Given the description of an element on the screen output the (x, y) to click on. 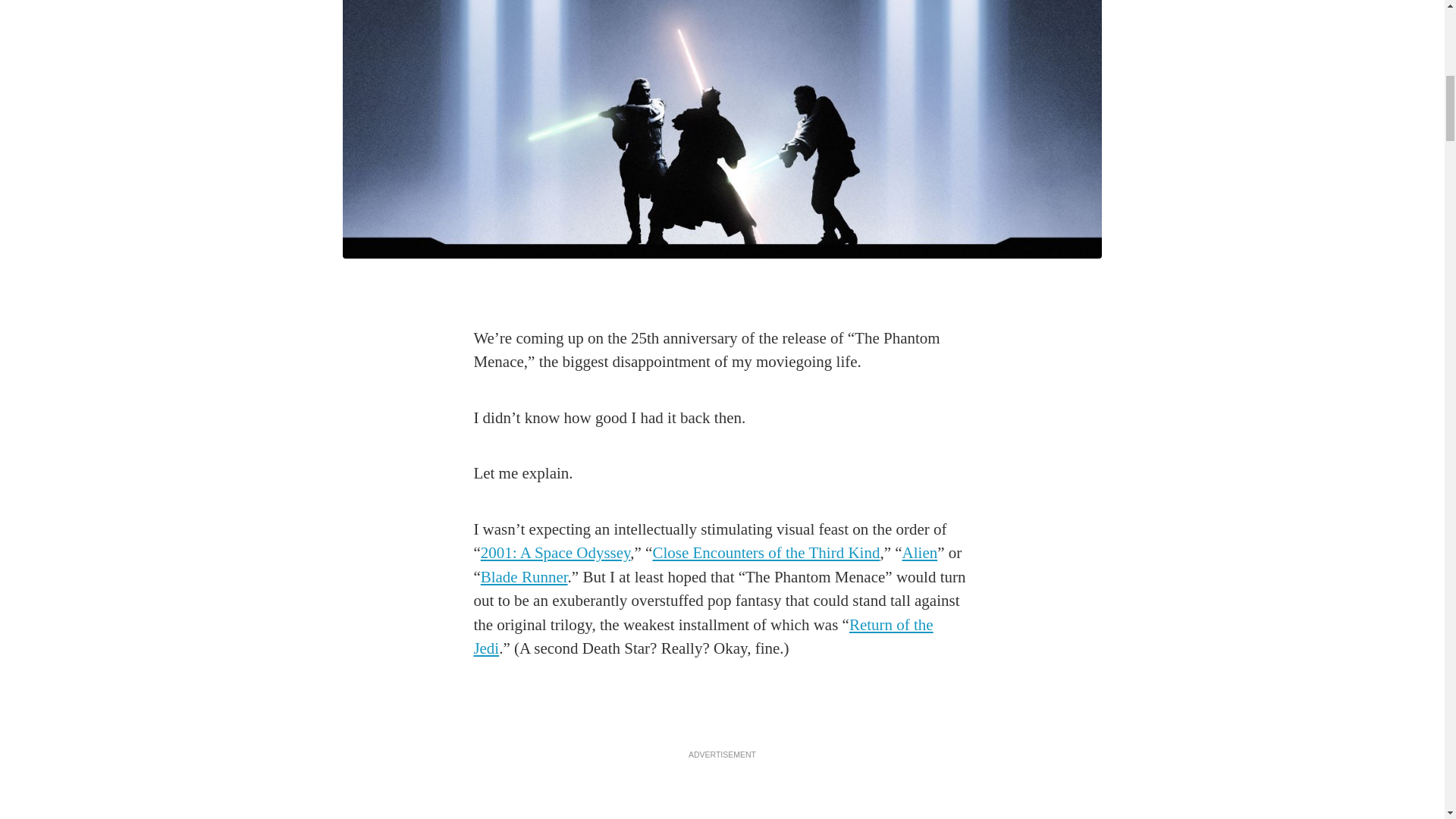
2001: A Space Odyssey (555, 552)
Close Encounters of the Third Kind (765, 552)
Blade Runner (523, 577)
Alien (919, 552)
Return of the Jedi (703, 636)
